Given the description of an element on the screen output the (x, y) to click on. 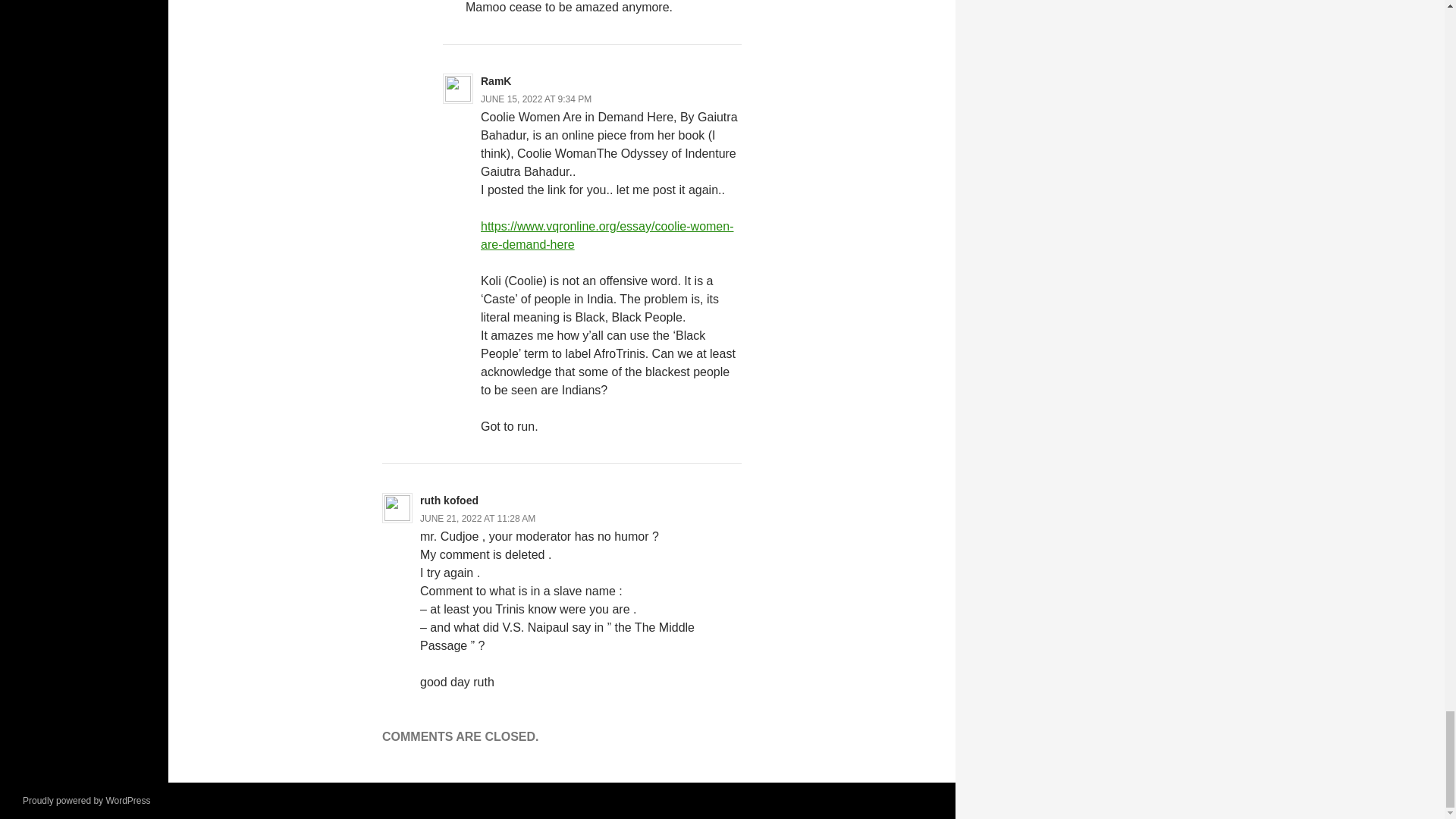
JUNE 21, 2022 AT 11:28 AM (477, 518)
ruth kofoed (449, 500)
JUNE 15, 2022 AT 9:34 PM (535, 99)
